Given the description of an element on the screen output the (x, y) to click on. 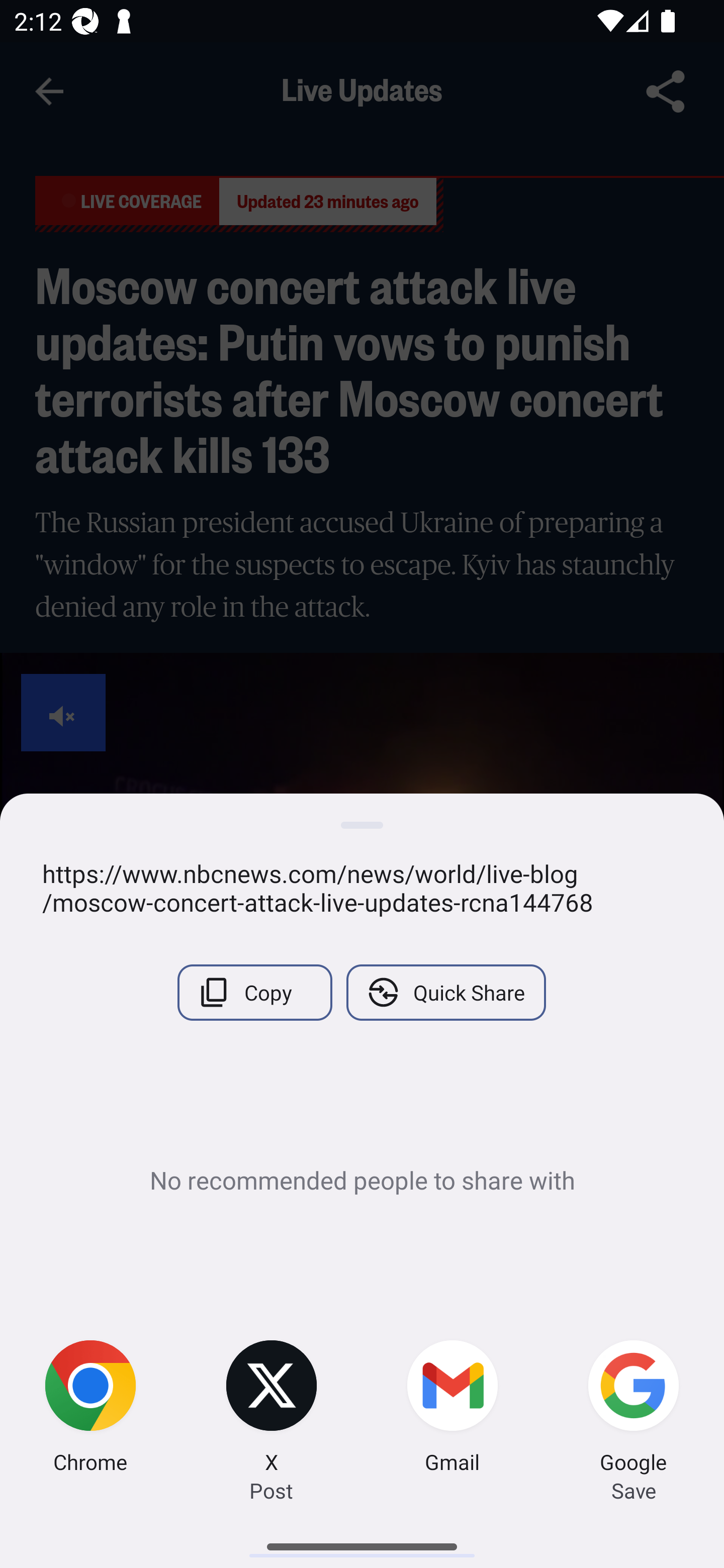
Copy (254, 992)
Quick Share (445, 992)
Chrome (90, 1409)
X Post (271, 1409)
Gmail (452, 1409)
Google Save (633, 1409)
